Given the description of an element on the screen output the (x, y) to click on. 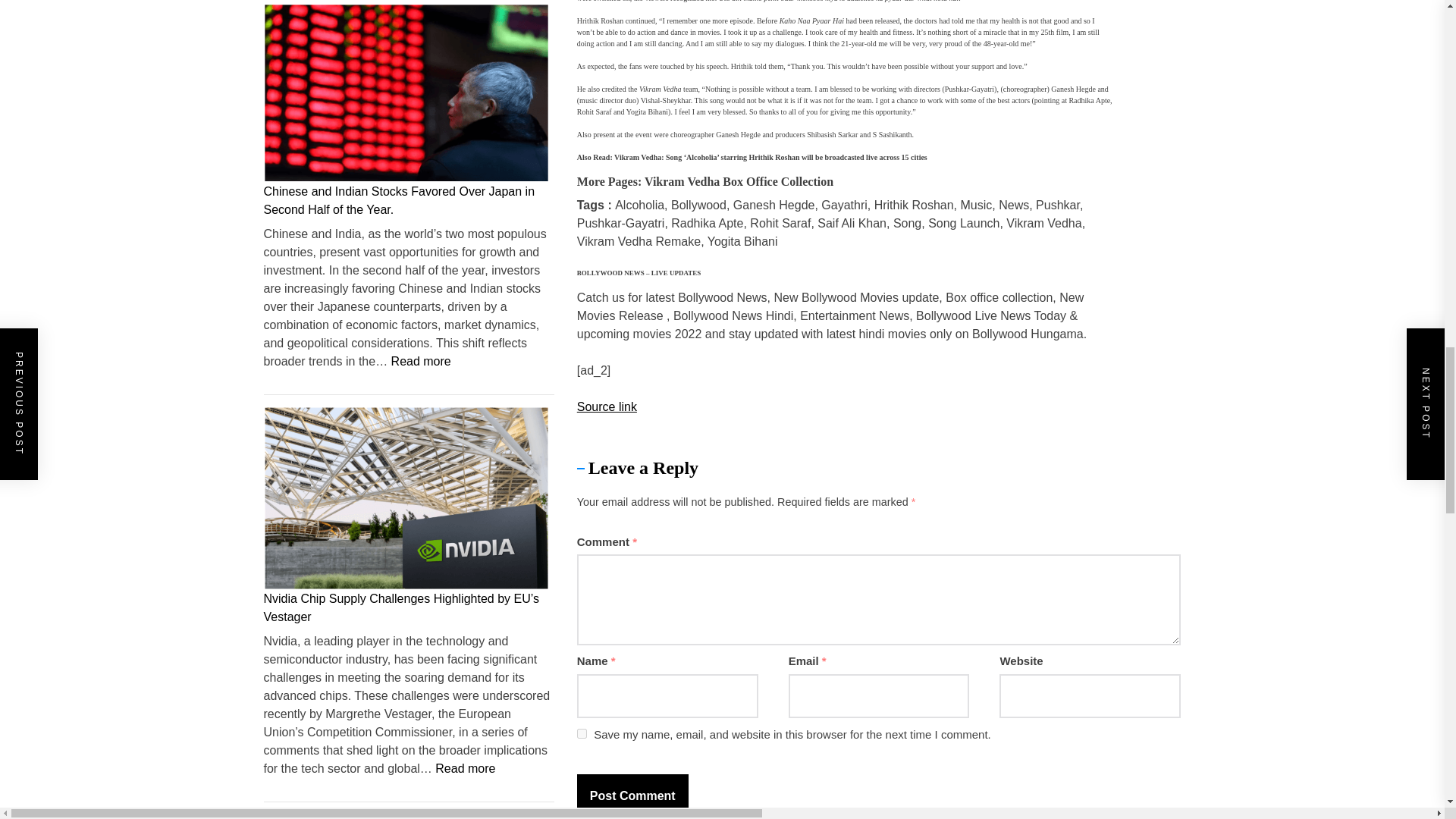
yes (581, 733)
Post Comment (632, 795)
